Given the description of an element on the screen output the (x, y) to click on. 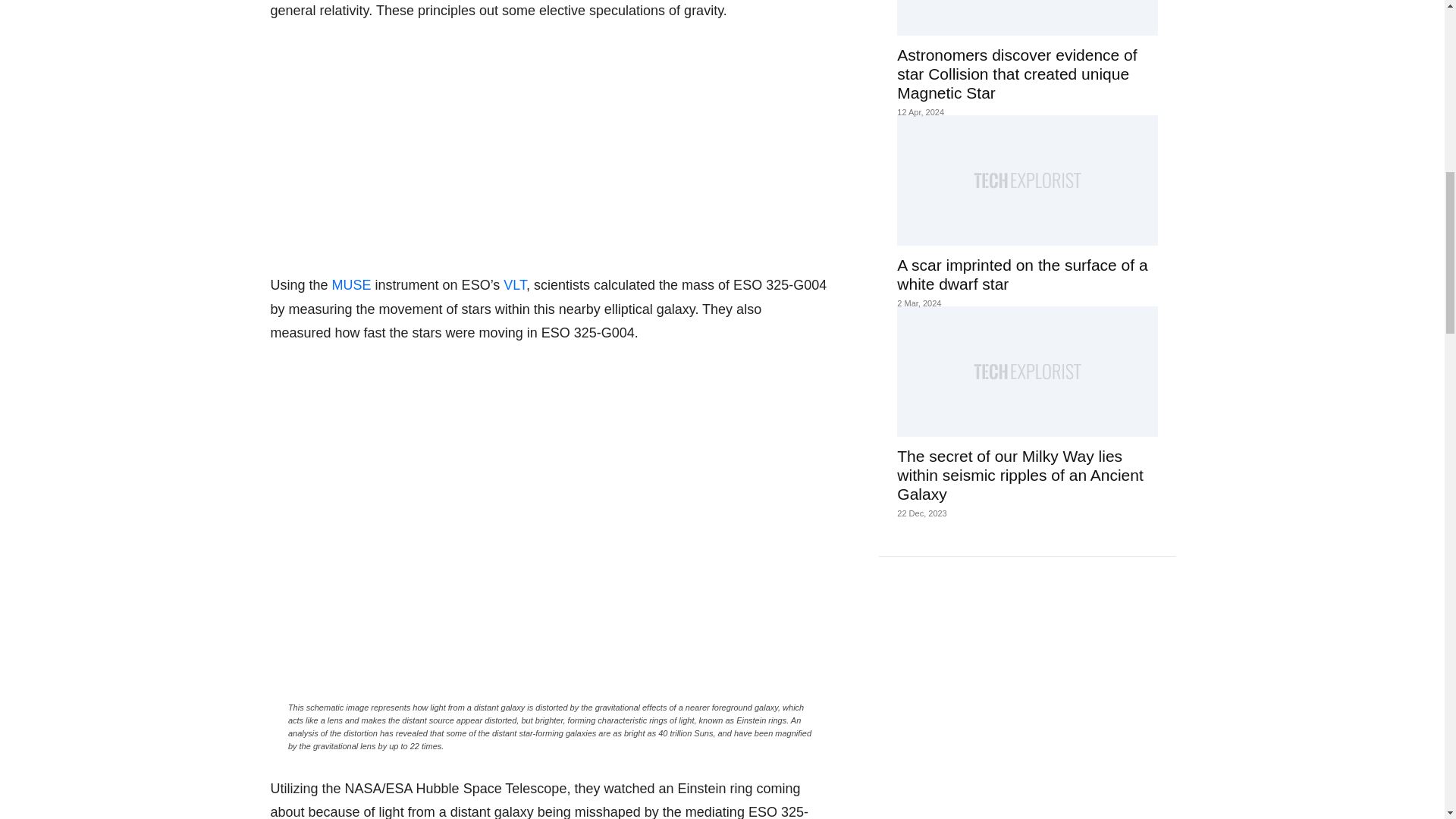
MUSE (351, 284)
VLT (514, 284)
